Given the description of an element on the screen output the (x, y) to click on. 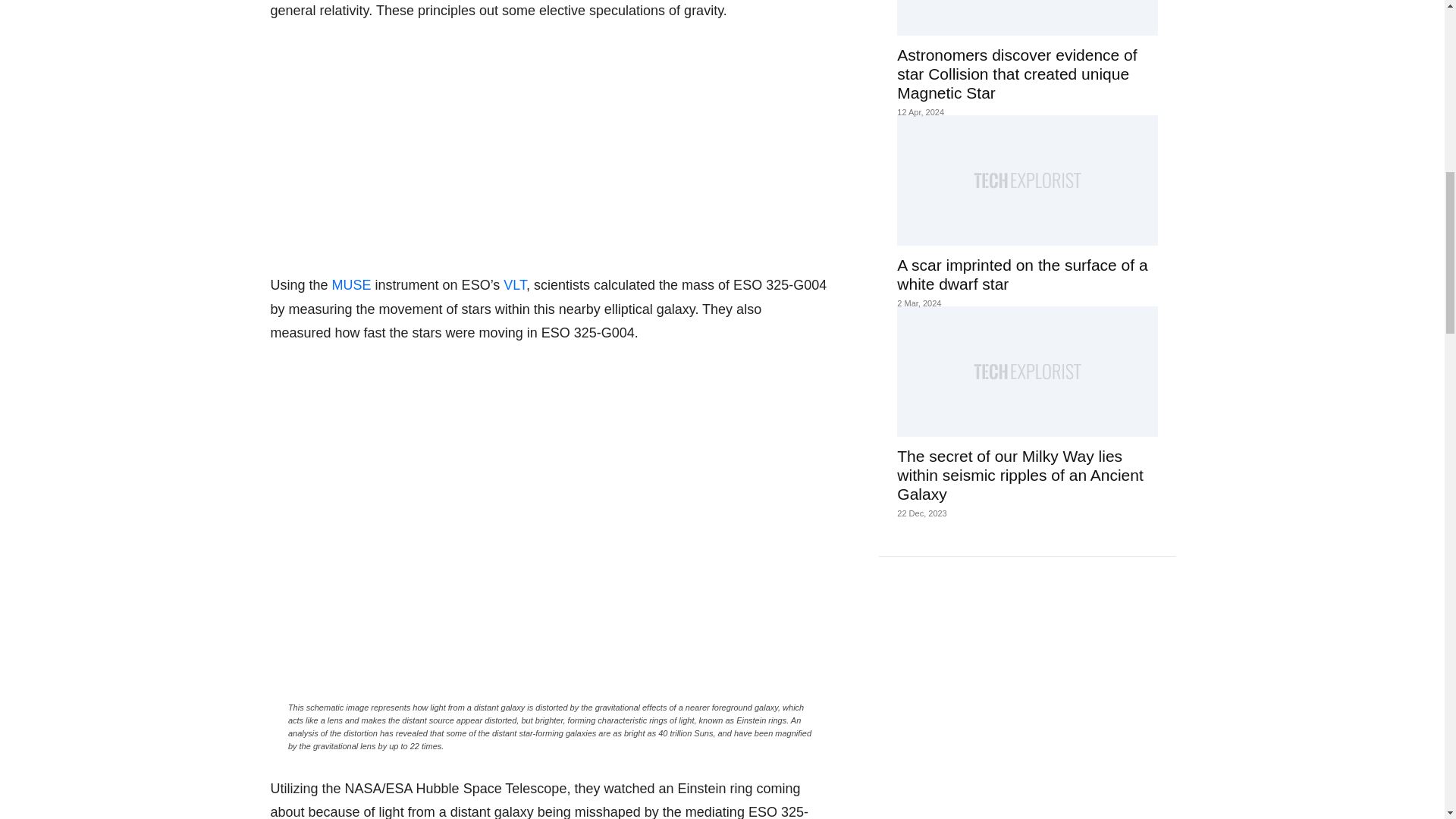
MUSE (351, 284)
VLT (514, 284)
